Given the description of an element on the screen output the (x, y) to click on. 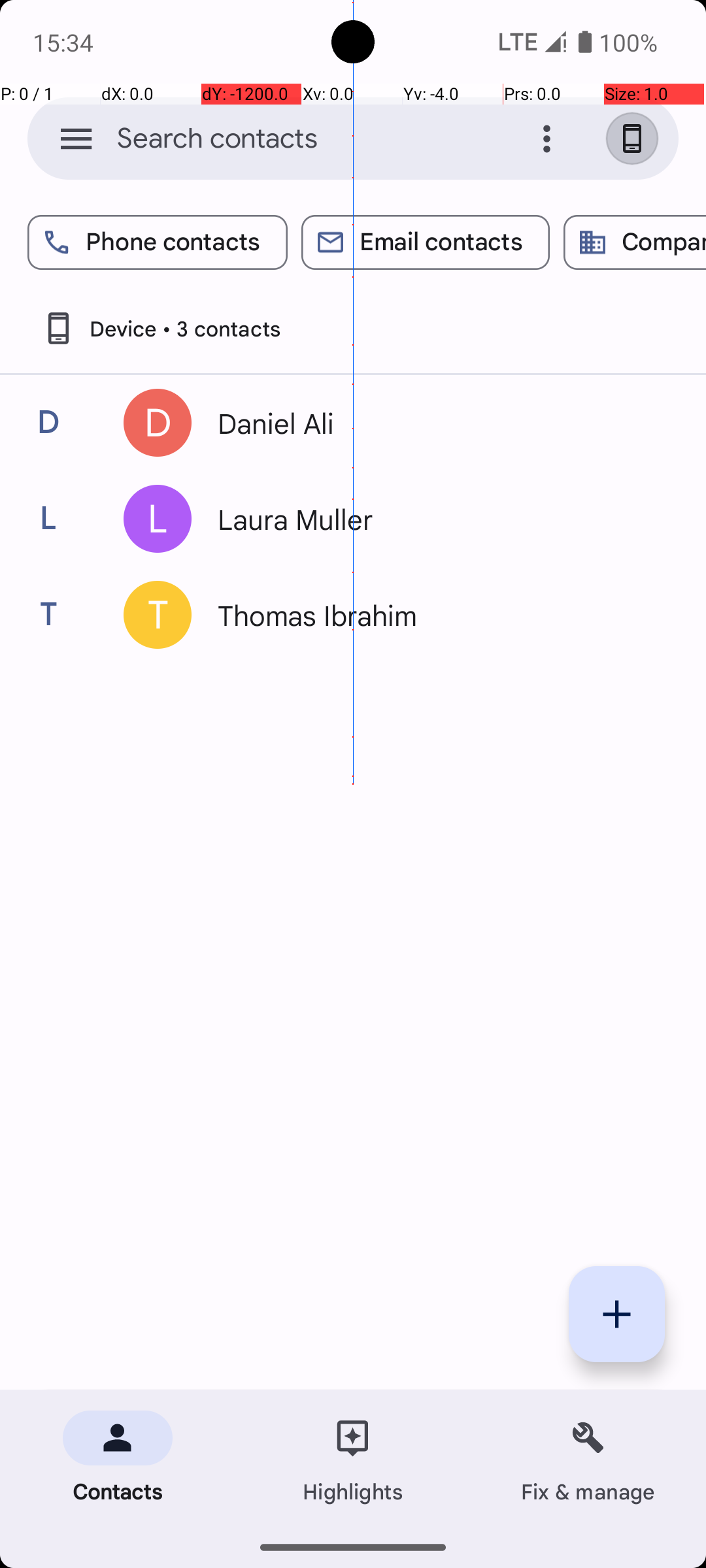
Device • 3 contacts Element type: android.widget.TextView (161, 328)
Daniel Ali Element type: android.widget.TextView (434, 422)
Laura Muller Element type: android.widget.TextView (434, 518)
Thomas Ibrahim Element type: android.widget.TextView (434, 614)
